Given the description of an element on the screen output the (x, y) to click on. 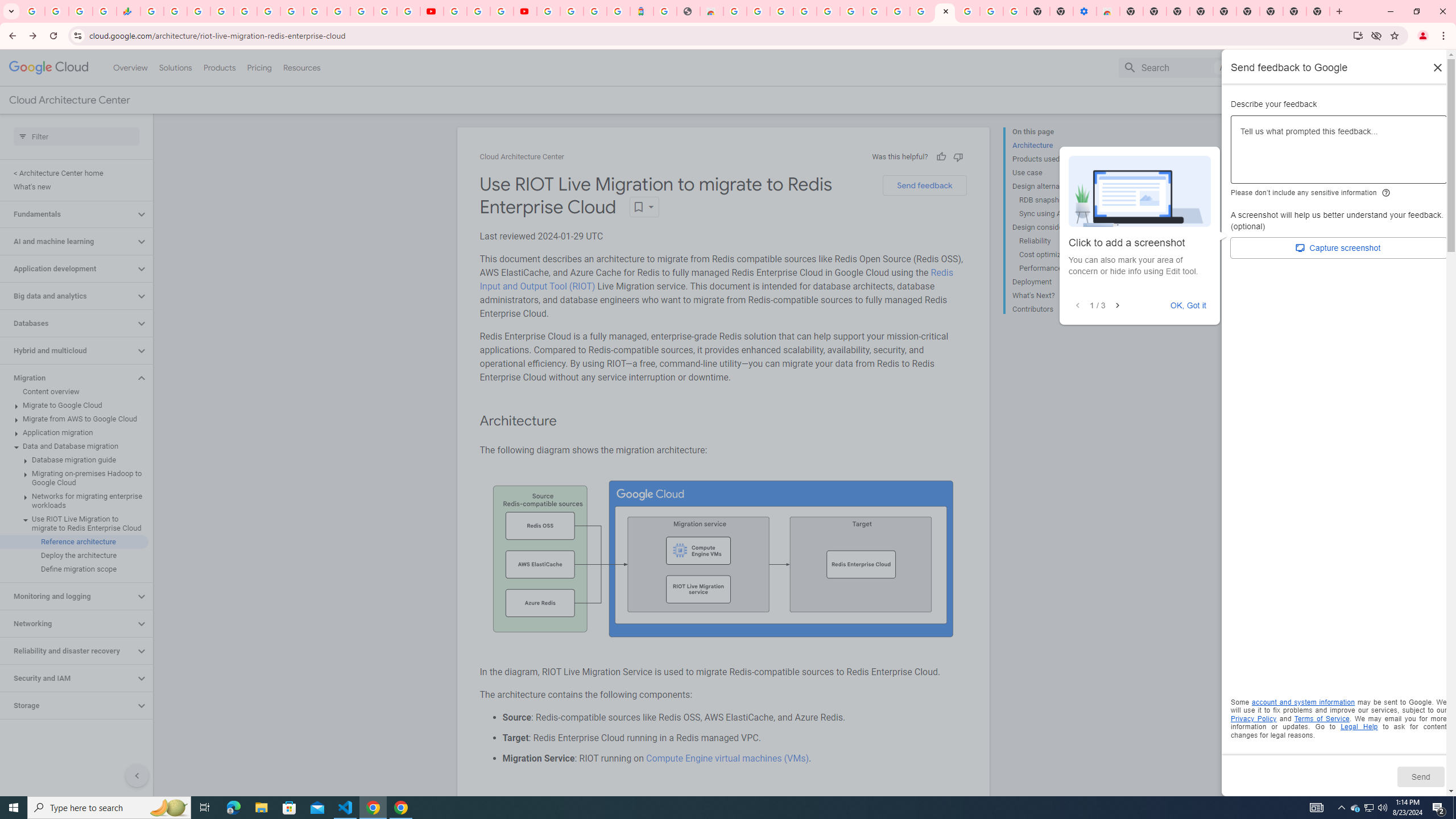
Migration (67, 377)
Performance (1062, 268)
Opens in a new tab. Privacy Policy (1253, 718)
Capture screenshot (1338, 247)
Sign in - Google Accounts (547, 11)
Big data and analytics (67, 296)
Helpful (940, 156)
